Given the description of an element on the screen output the (x, y) to click on. 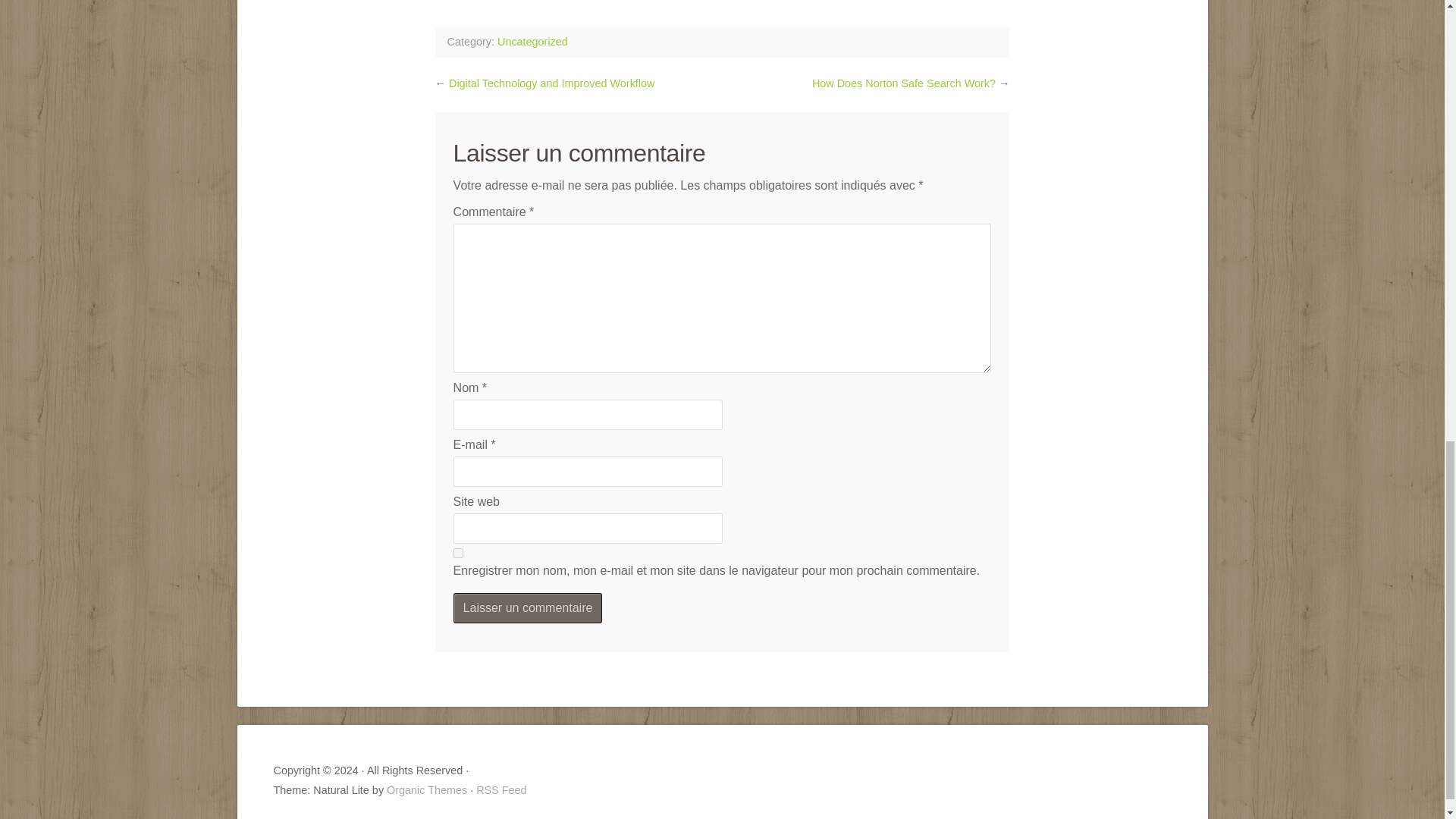
RSS Feed (500, 789)
Organic Themes (427, 789)
Laisser un commentaire (527, 607)
How Does Norton Safe Search Work? (903, 82)
yes (457, 552)
Uncategorized (532, 41)
Digital Technology and Improved Workflow (550, 82)
Laisser un commentaire (527, 607)
